Given the description of an element on the screen output the (x, y) to click on. 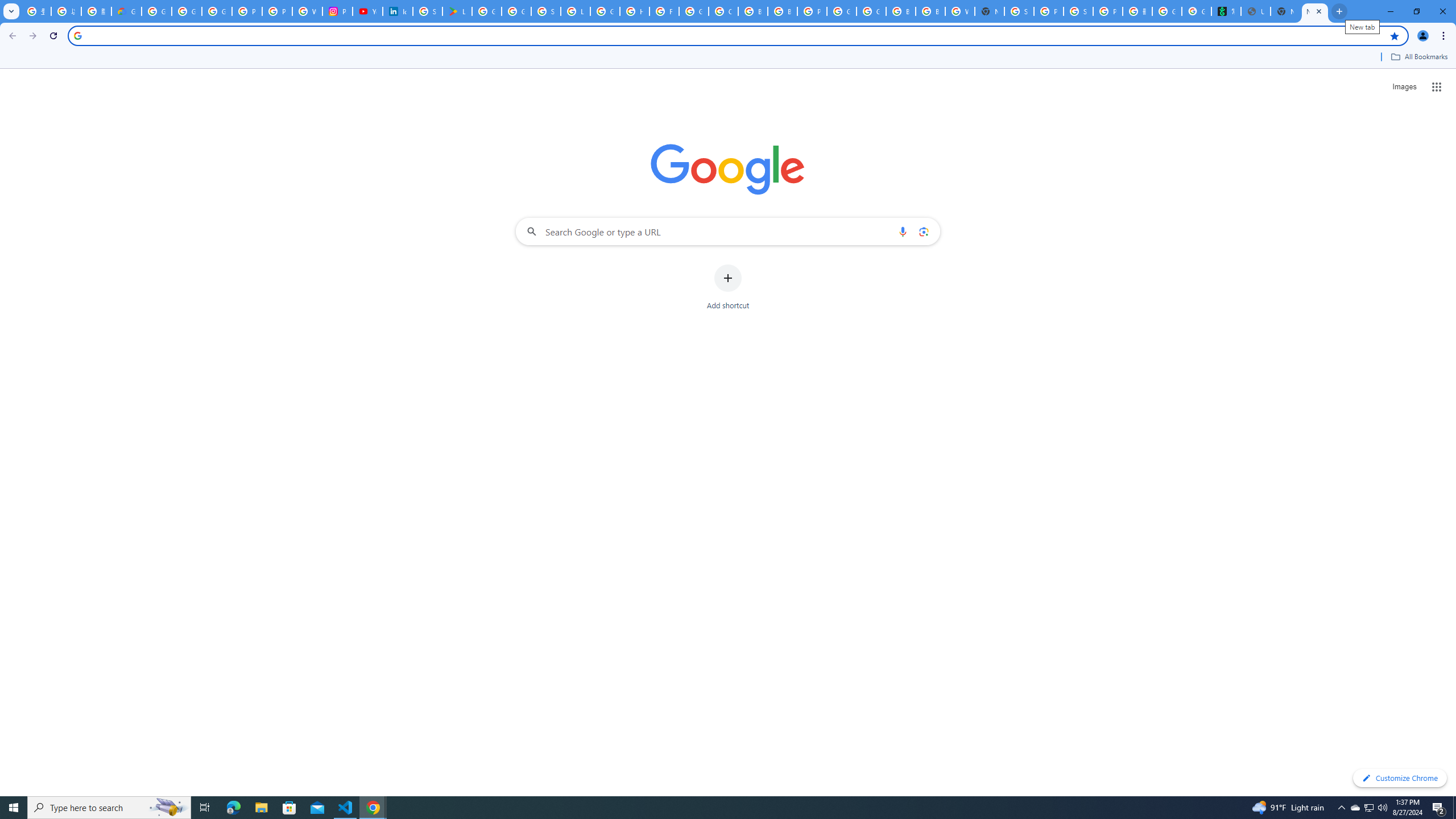
New Tab (1314, 11)
New Tab (989, 11)
Last Shelter: Survival - Apps on Google Play (456, 11)
YouTube Culture & Trends - On The Rise: Handcam Videos (367, 11)
